Given the description of an element on the screen output the (x, y) to click on. 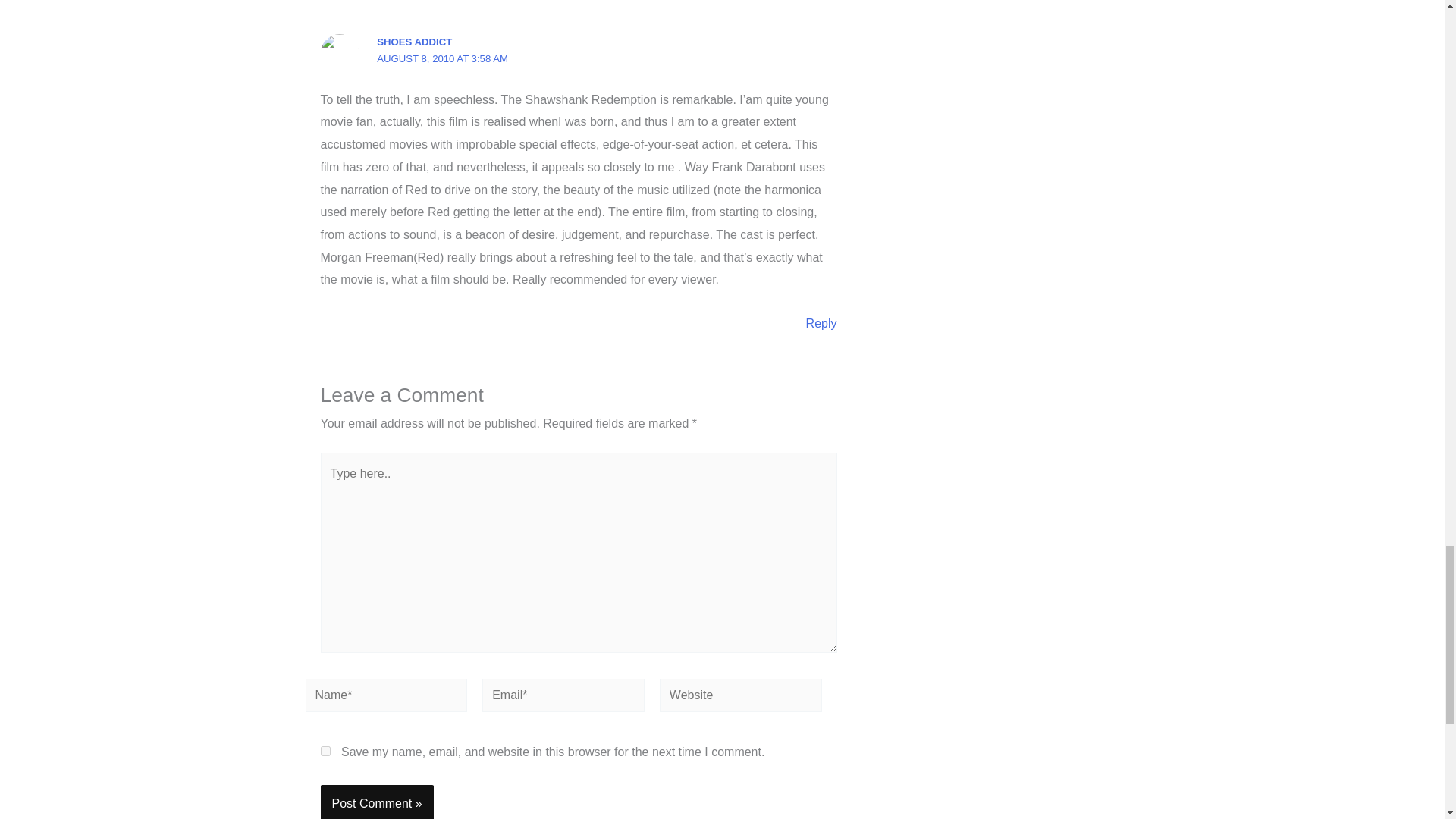
yes (325, 750)
